Given the description of an element on the screen output the (x, y) to click on. 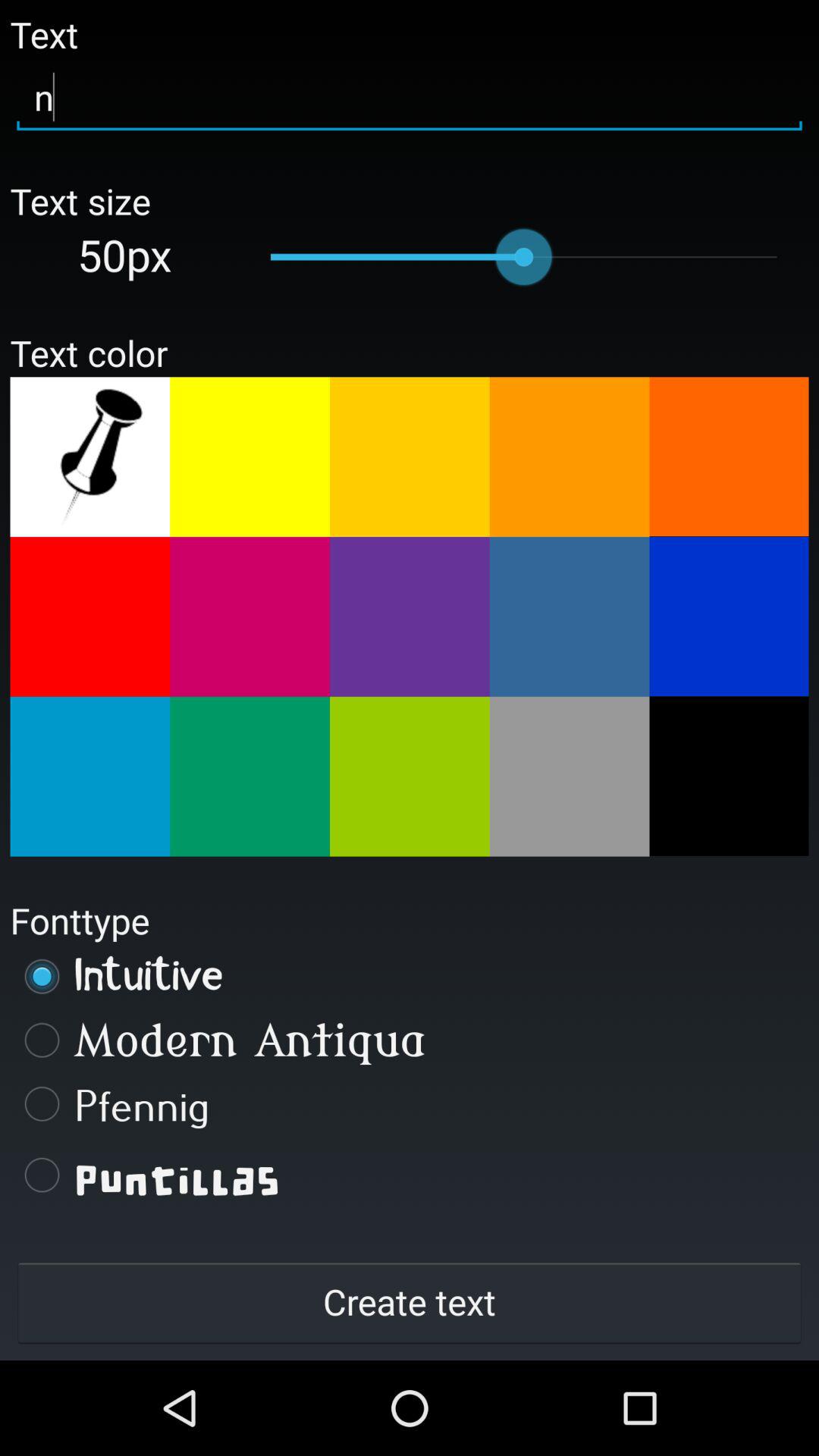
make text pink (249, 616)
